Given the description of an element on the screen output the (x, y) to click on. 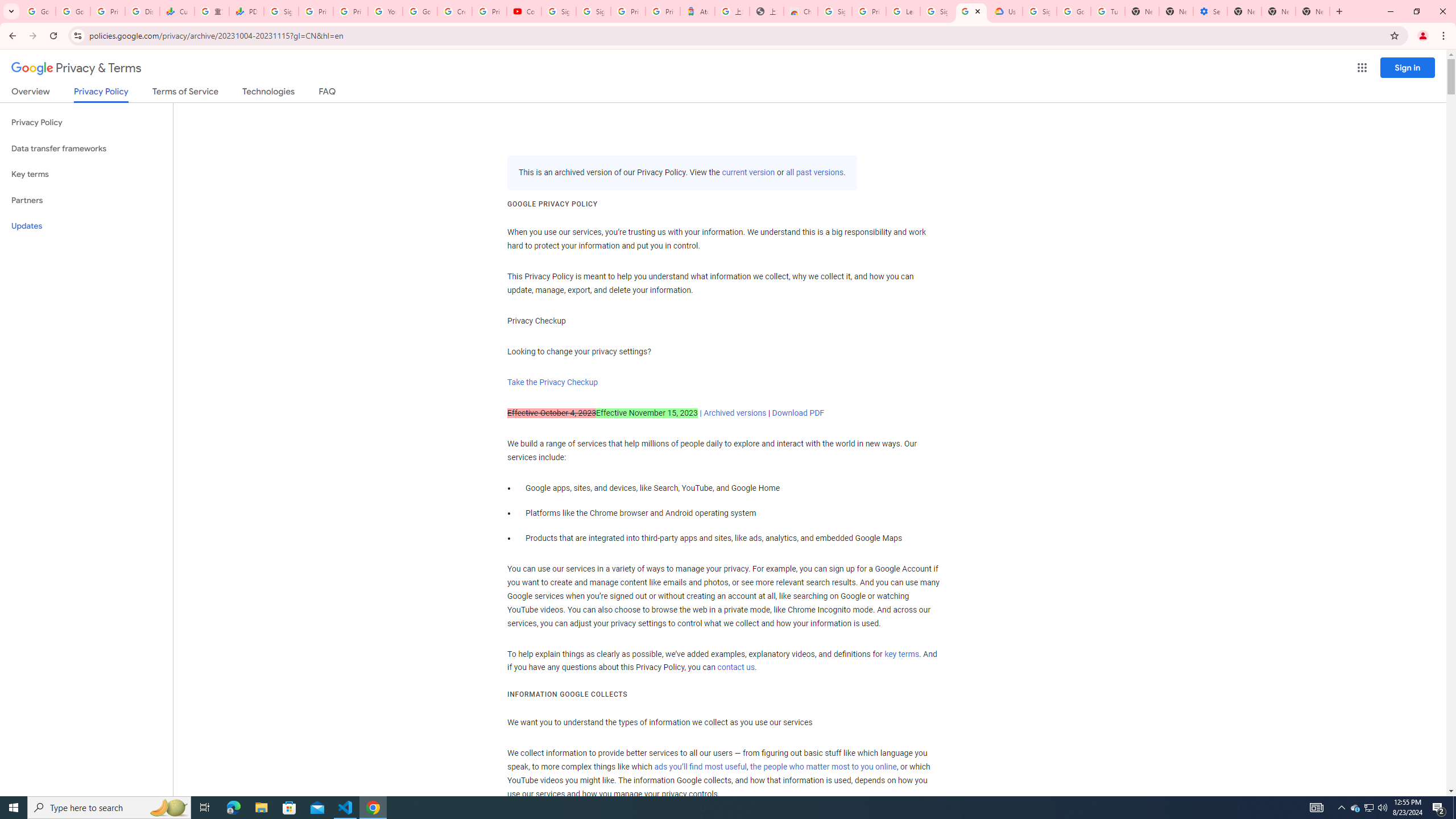
Create your Google Account (454, 11)
the people who matter most to you online (822, 766)
Currencies - Google Finance (176, 11)
Google Workspace Admin Community (38, 11)
Chrome Web Store - Color themes by Chrome (800, 11)
Settings - Addresses and more (1209, 11)
